Given the description of an element on the screen output the (x, y) to click on. 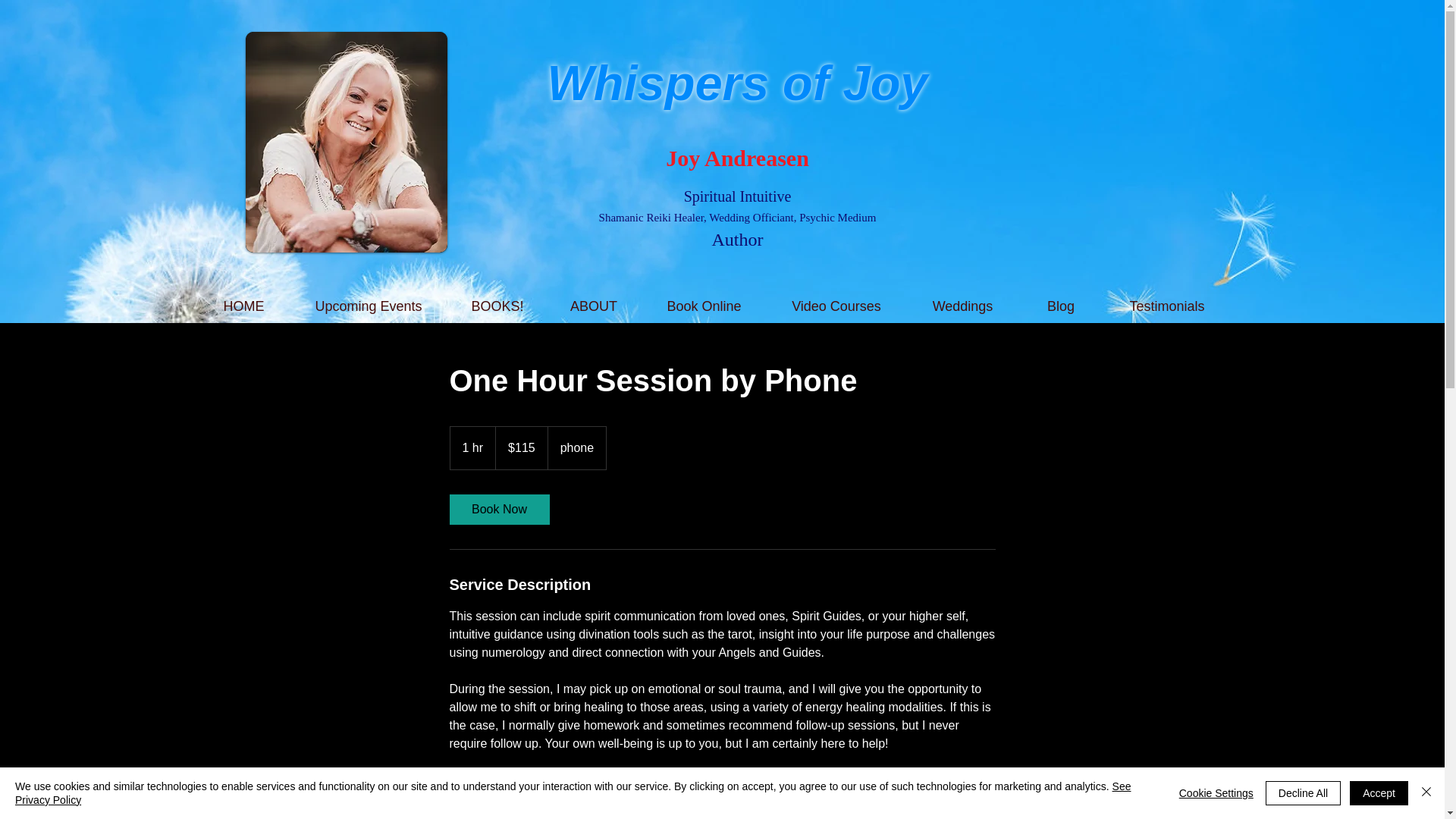
BOOKS! (497, 306)
Upcoming Events (368, 306)
ABOUT (593, 306)
Book Online (704, 306)
HOME (243, 306)
Weddings (962, 306)
Testimonials (1166, 306)
Decline All (1302, 793)
Video Courses (835, 306)
me and hubby love all.jpg (346, 141)
Accept (1378, 793)
Book Now (498, 509)
Blog (1061, 306)
See Privacy Policy (572, 792)
